Given the description of an element on the screen output the (x, y) to click on. 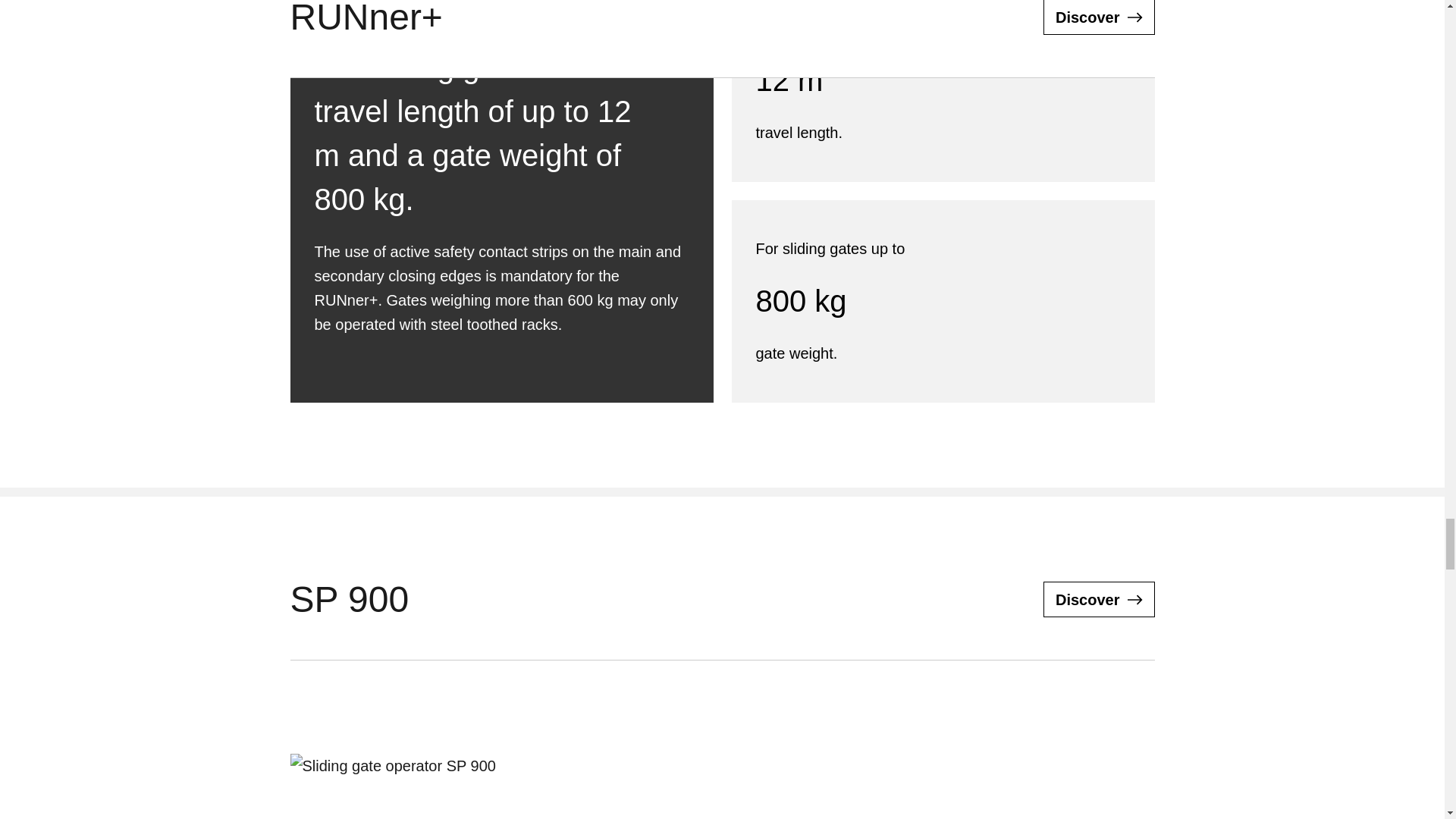
SP 900 (1098, 599)
